Given the description of an element on the screen output the (x, y) to click on. 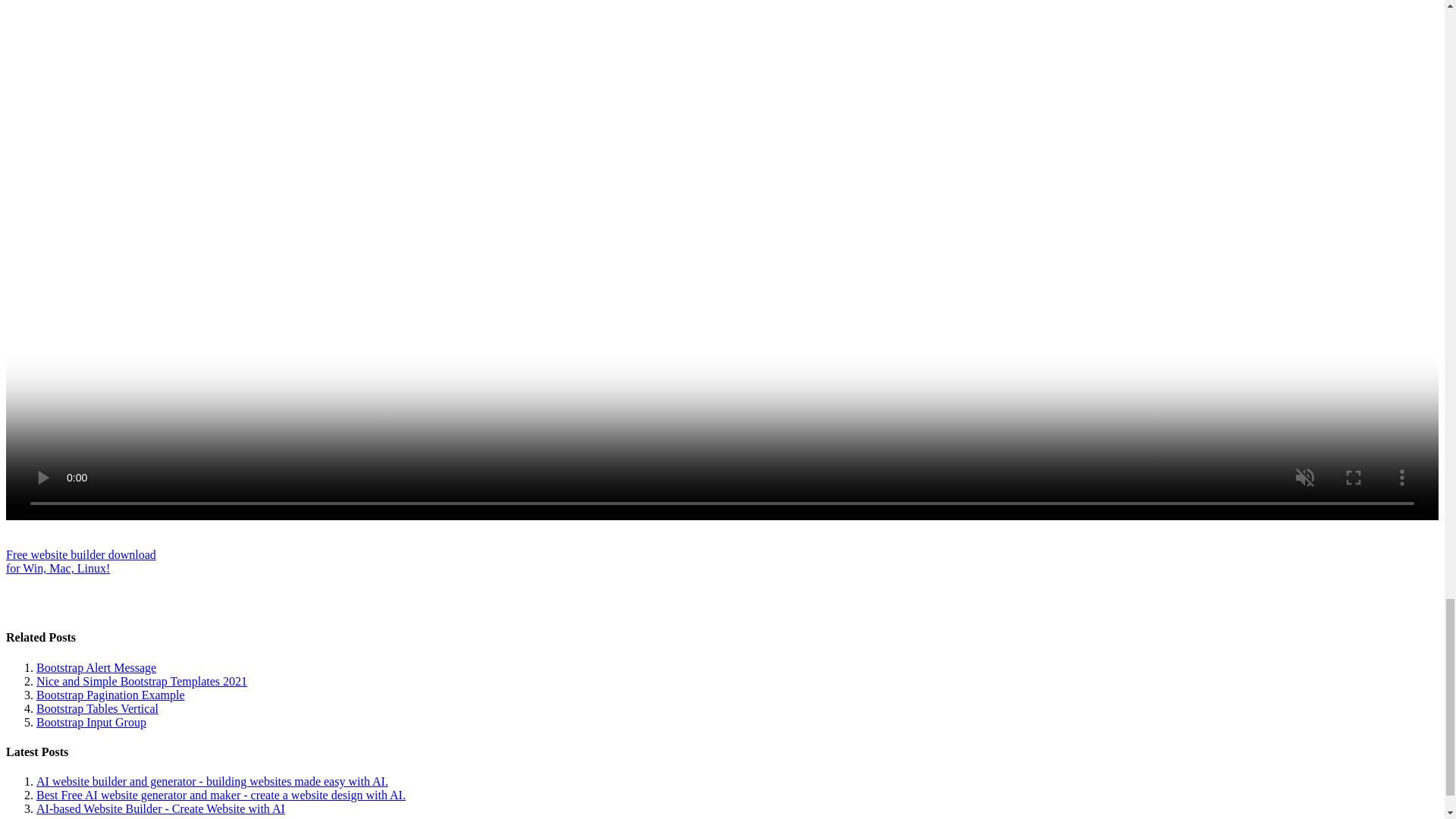
Bootstrap Alert Message (80, 560)
Bootstrap Pagination Example (95, 667)
AI-based Website Builder - Create Website with AI (110, 694)
Bootstrap Tables Vertical (160, 808)
Bootstrap Input Group (97, 707)
Nice and Simple Bootstrap Templates 2021 (91, 721)
